Given the description of an element on the screen output the (x, y) to click on. 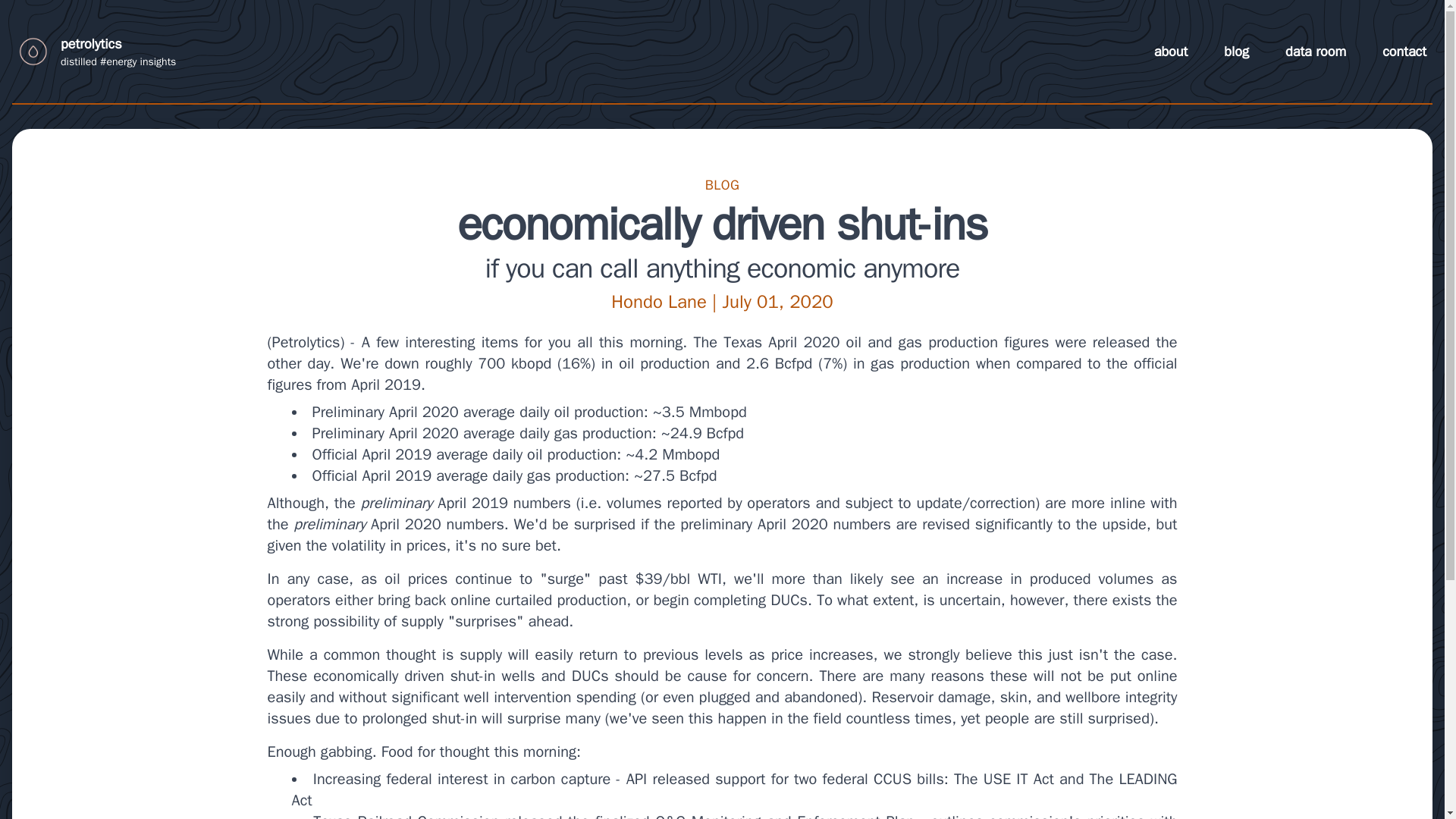
Logo (96, 51)
data room (1315, 51)
LEADING Act (733, 789)
back online curtailed production (520, 599)
Petrolytics (304, 342)
API released support (695, 778)
blog (1236, 51)
The USE IT Act (1003, 778)
Texas April 2020 oil and gas production figures (885, 342)
about (1171, 51)
contact (1403, 51)
